Given the description of an element on the screen output the (x, y) to click on. 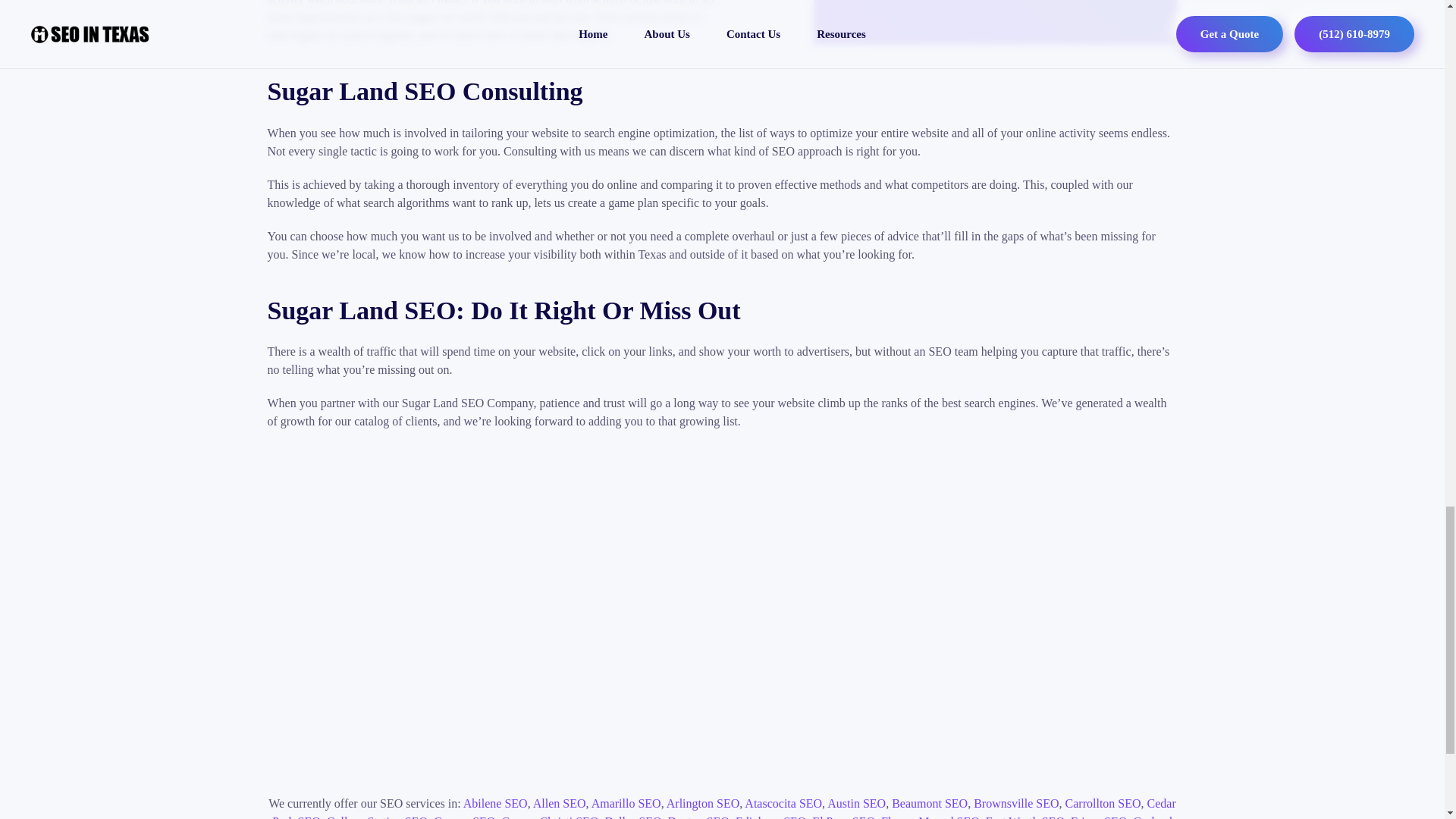
Corpus Christi SEO (549, 816)
Allen SEO (559, 802)
College Station SEO (377, 816)
Edinburg SEO (770, 816)
Abilene SEO (495, 802)
Conroe SEO (464, 816)
El Paso SEO (843, 816)
Beaumont SEO (929, 802)
Austin SEO (856, 802)
Denton SEO (698, 816)
Cedar Park SEO (724, 807)
Atascocita SEO (783, 802)
Amarillo SEO (626, 802)
Dallas SEO (632, 816)
Arlington SEO (702, 802)
